Given the description of an element on the screen output the (x, y) to click on. 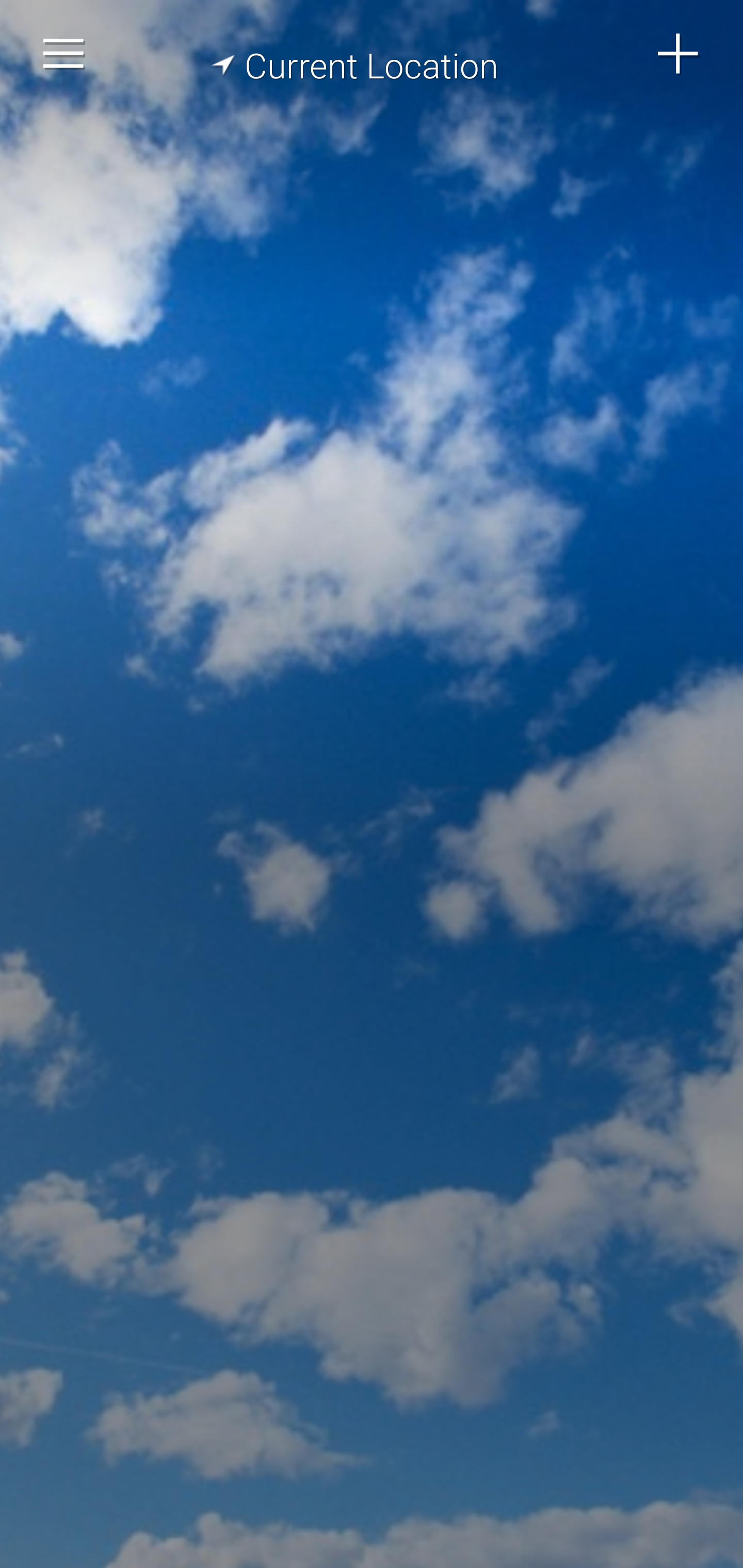
Sidebar (64, 54)
Add City (678, 53)
